Given the description of an element on the screen output the (x, y) to click on. 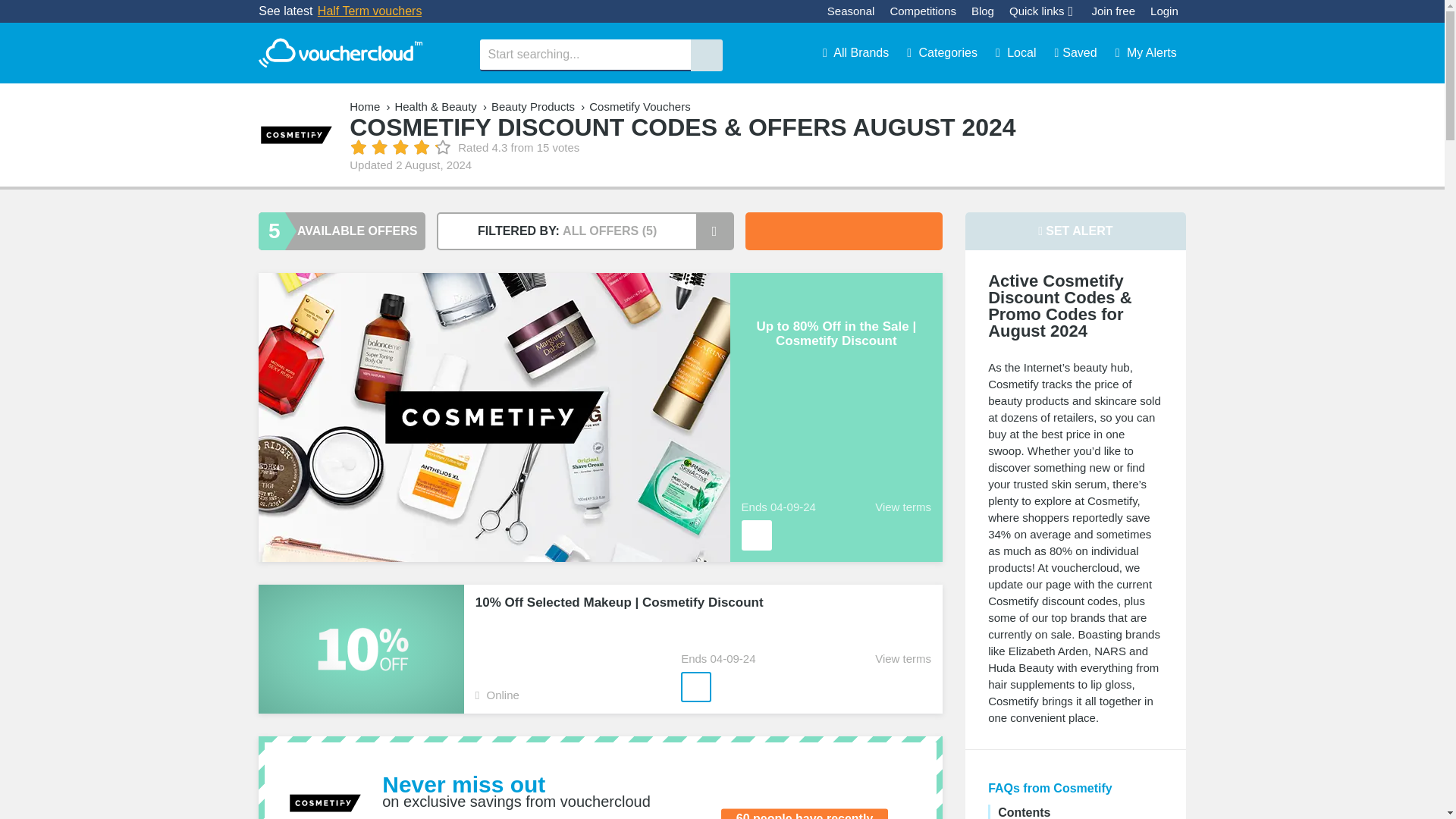
vouchercloud (340, 52)
SEARCH (706, 55)
